Given the description of an element on the screen output the (x, y) to click on. 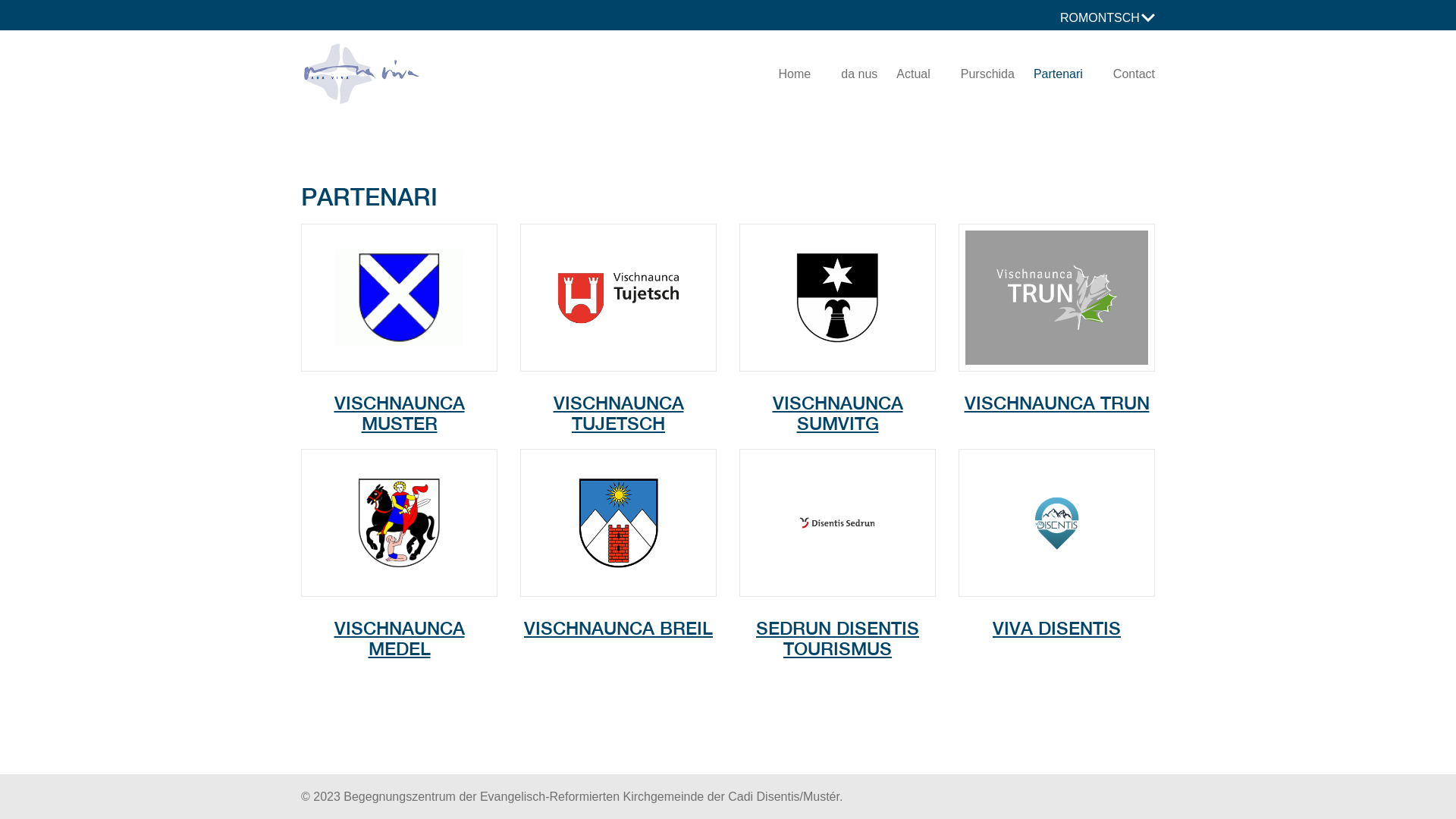
Actual Element type: text (912, 74)
VIVA DISENTIS Element type: text (1056, 612)
VISCHNAUNCA MUSTER Element type: text (399, 396)
Home Element type: text (794, 74)
VISCHNAUNCA SUMVITG Element type: text (837, 396)
Partenari Element type: text (1058, 74)
SEDRUN DISENTIS TOURISMUS Element type: text (837, 622)
VISCHNAUNCA MEDEL Element type: text (399, 622)
VISCHNAUNCA BREIL Element type: text (618, 612)
Contact Element type: text (1126, 74)
da nus Element type: text (853, 74)
Direkt zum Inhalt Element type: text (0, 0)
Purschida Element type: text (981, 74)
VISCHNAUNCA TRUN Element type: text (1056, 386)
VISCHNAUNCA TUJETSCH Element type: text (618, 396)
